Given the description of an element on the screen output the (x, y) to click on. 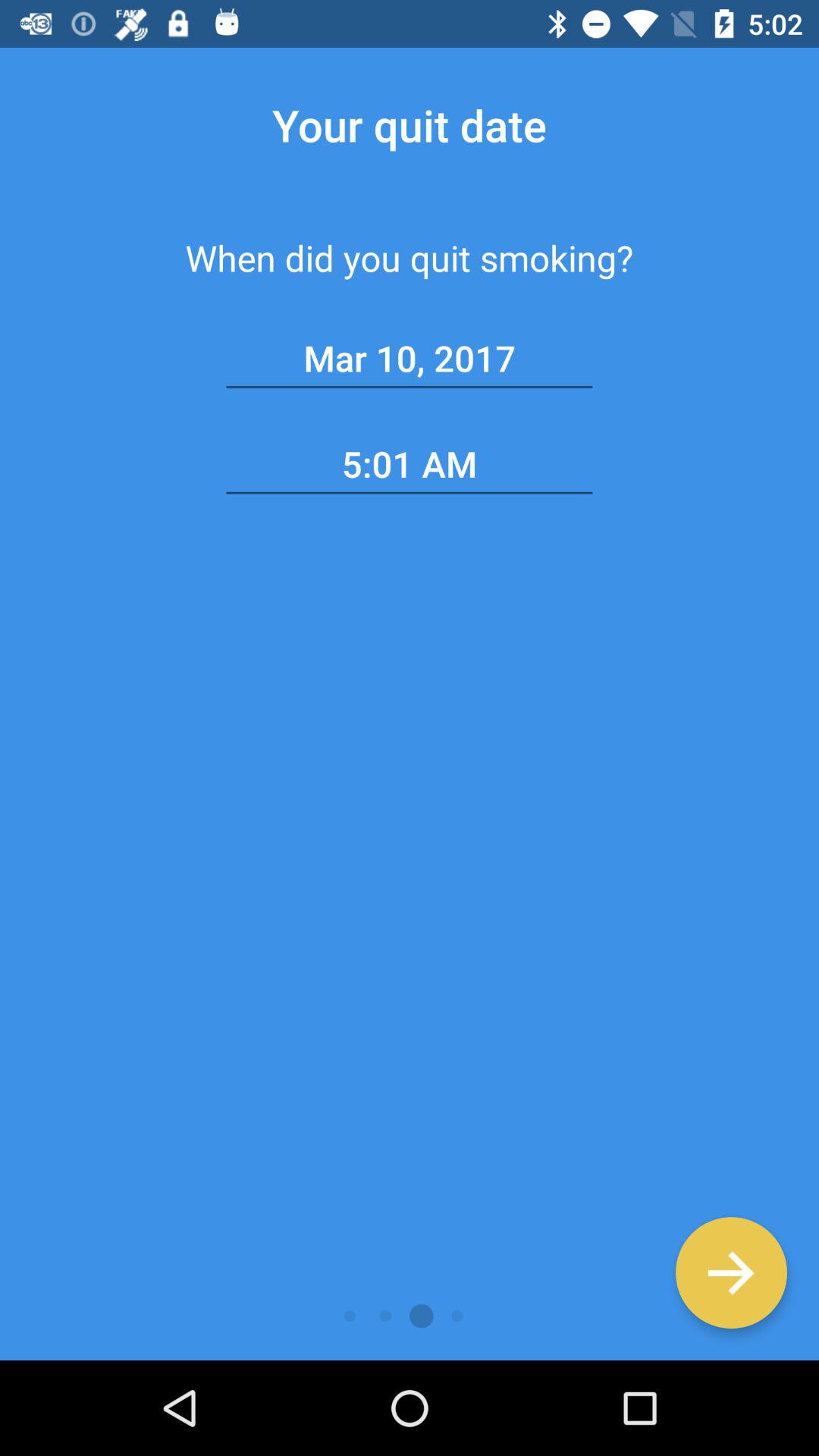
go back (731, 1272)
